Given the description of an element on the screen output the (x, y) to click on. 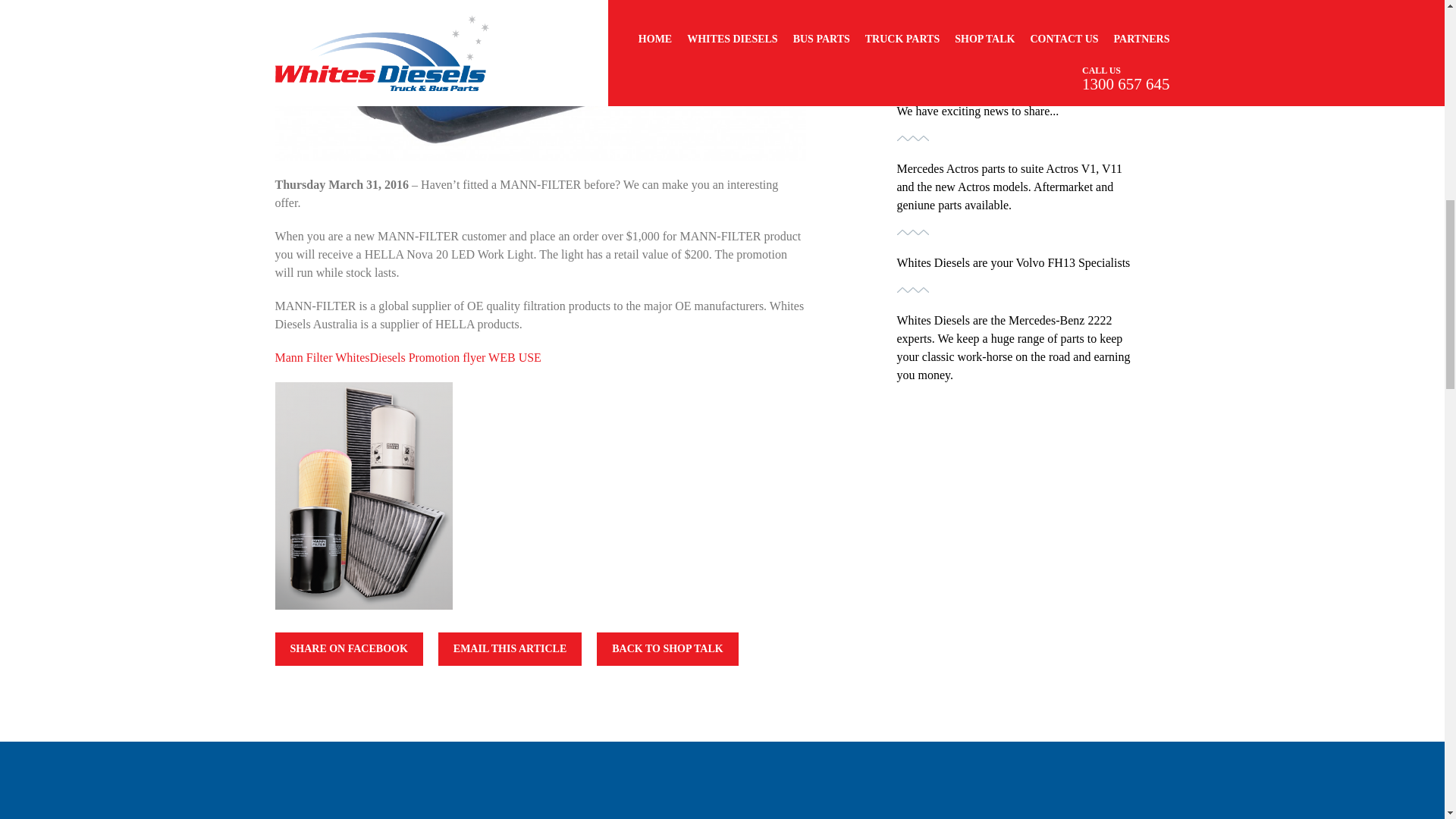
BACK TO SHOP TALK (667, 648)
Narva Flyer Out Now (949, 52)
2nd Hand Engine Parts Clearance (977, 1)
Mann Filter WhitesDiesels Promotion flyer WEB USE (407, 357)
EMAIL THIS ARTICLE (509, 648)
We have exciting news to share... (977, 110)
SHARE ON FACEBOOK (348, 648)
Whites Diesels are your Volvo FH13 Specialists (1012, 262)
